Given the description of an element on the screen output the (x, y) to click on. 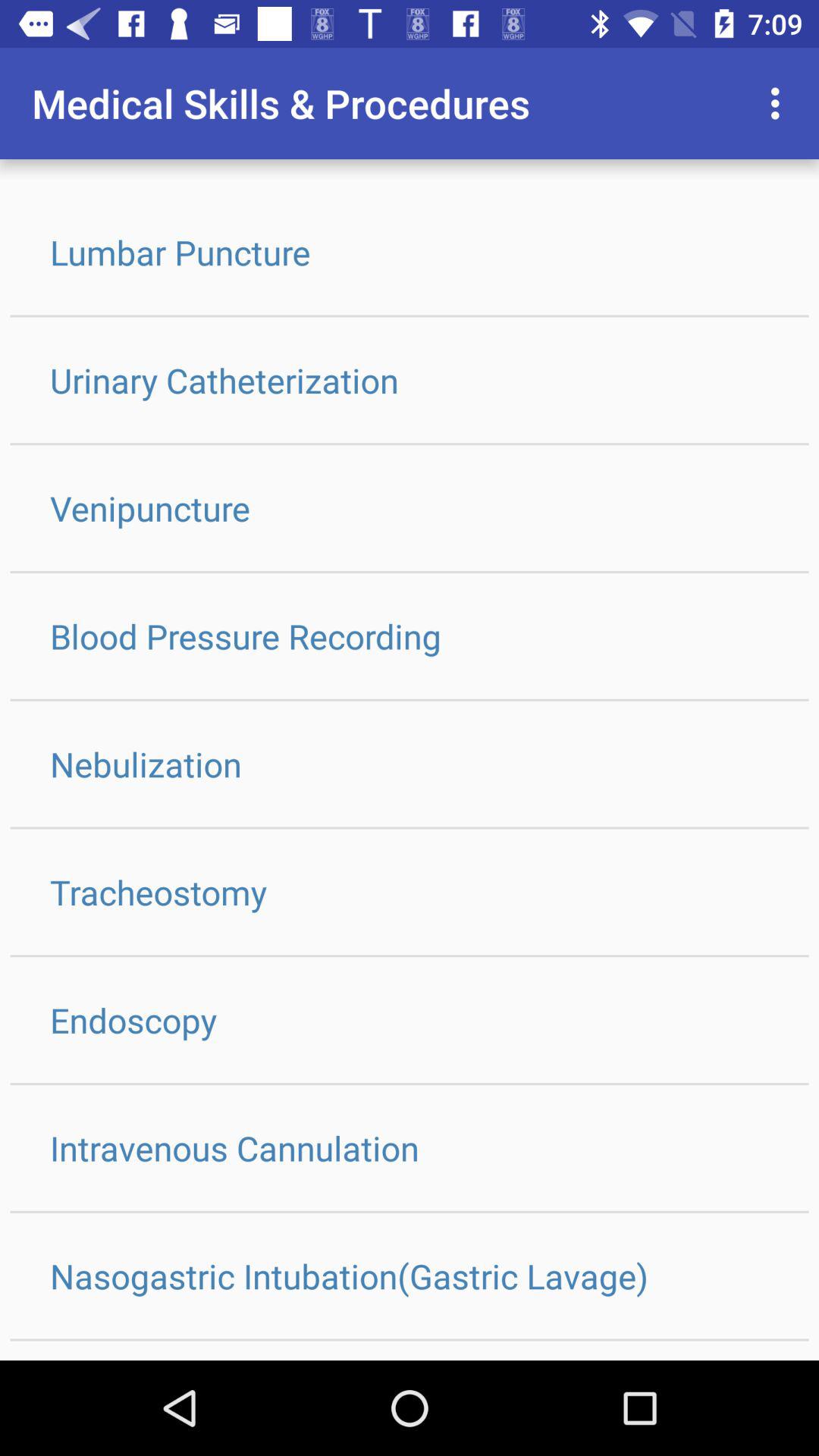
open item to the right of medical skills & procedures item (779, 103)
